Given the description of an element on the screen output the (x, y) to click on. 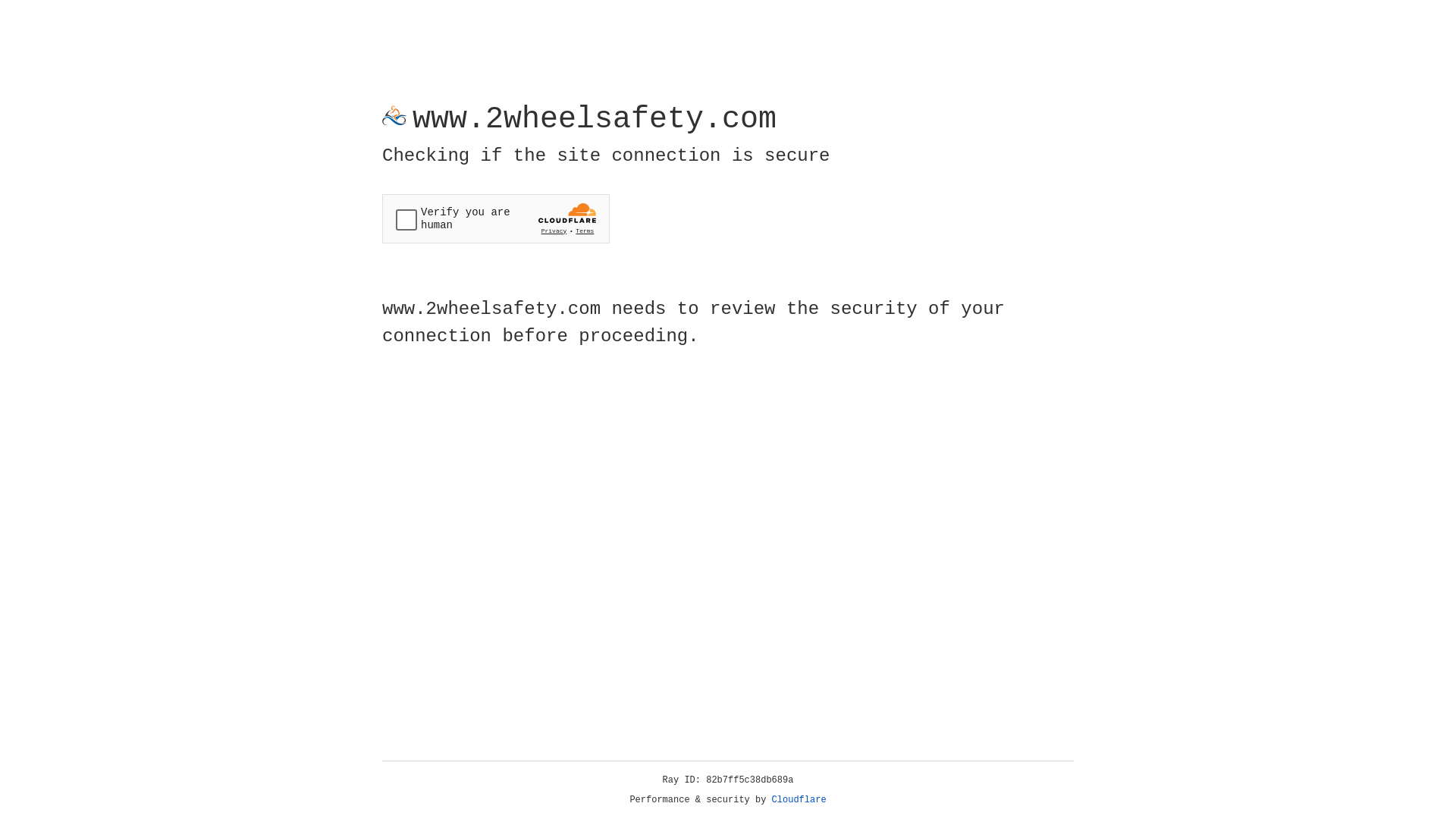
Widget containing a Cloudflare security challenge Element type: hover (495, 218)
Cloudflare Element type: text (798, 799)
